Given the description of an element on the screen output the (x, y) to click on. 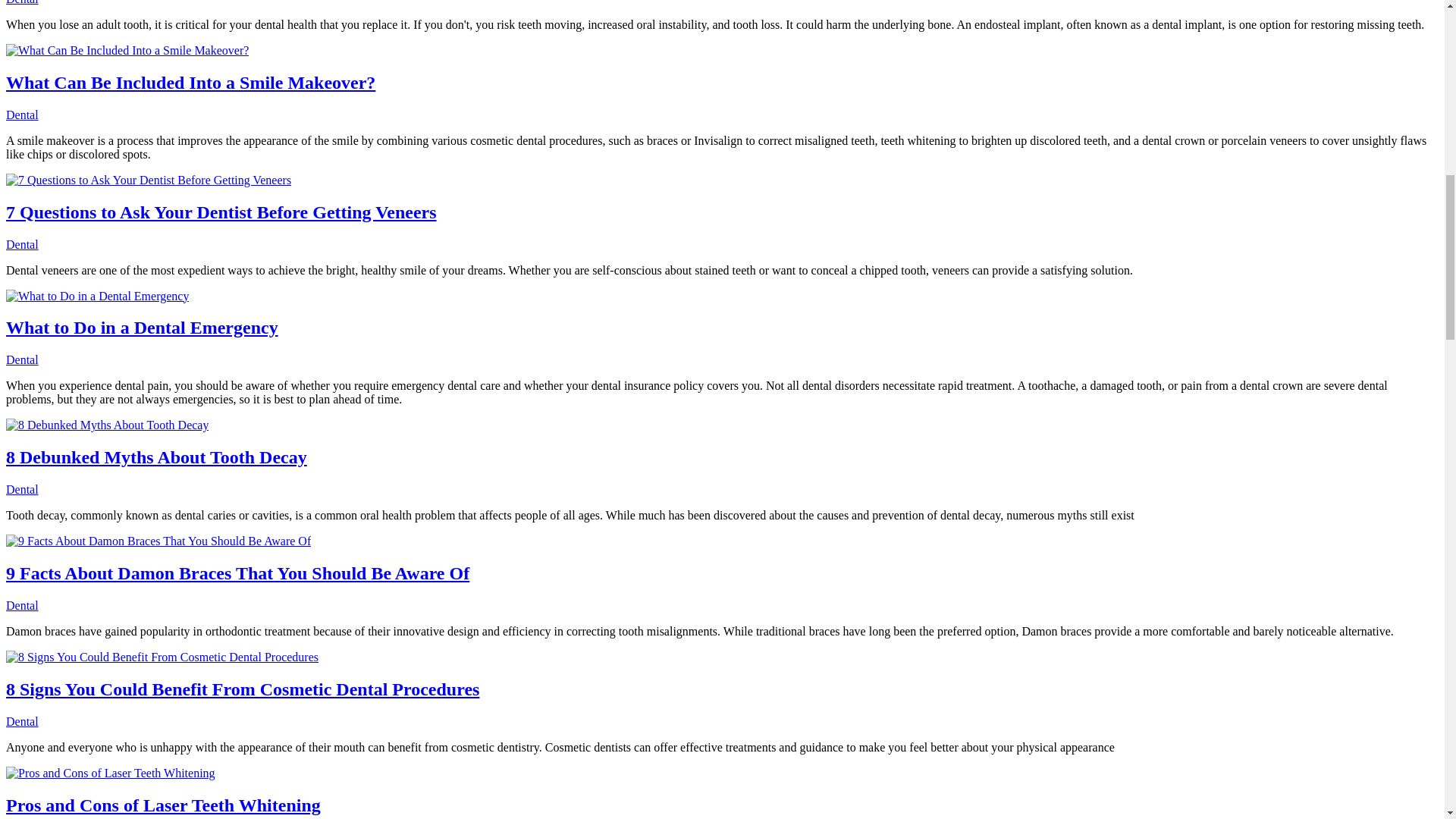
8 Debunked Myths About Tooth Decay (156, 456)
Dental (22, 604)
What Can Be Included Into a Smile Makeover? (126, 50)
Dental (22, 489)
9 Facts About Damon Braces That You Should Be Aware Of (236, 573)
7 Questions to Ask Your Dentist Before Getting Veneers (148, 180)
8 Debunked Myths About Tooth Decay (106, 425)
8 Signs You Could Benefit From Cosmetic Dental Procedures (161, 657)
Dental (22, 114)
7 Questions to Ask Your Dentist Before Getting Veneers (220, 211)
